Given the description of an element on the screen output the (x, y) to click on. 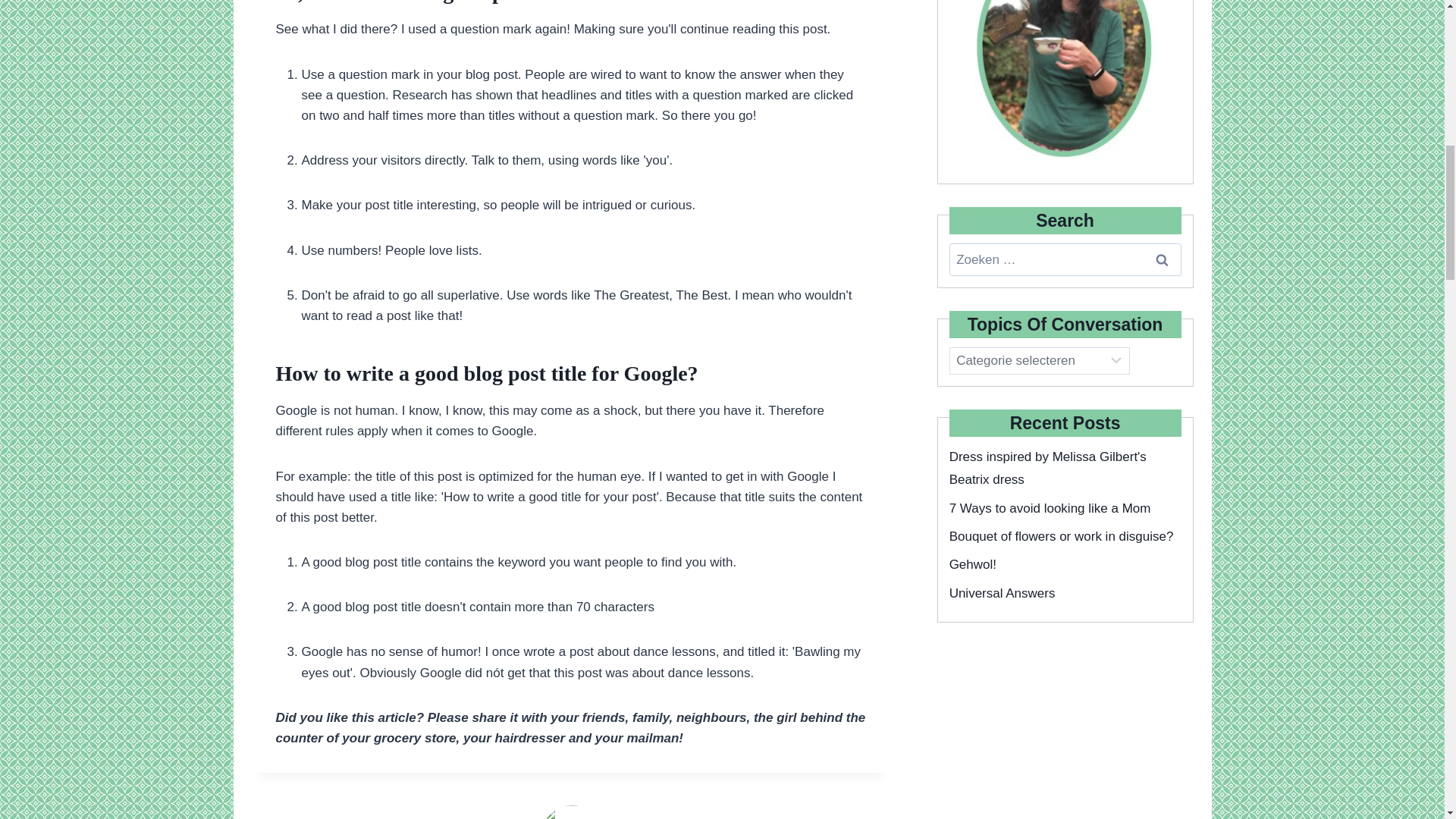
Zoeken (1161, 259)
Zoeken (1161, 259)
